Given the description of an element on the screen output the (x, y) to click on. 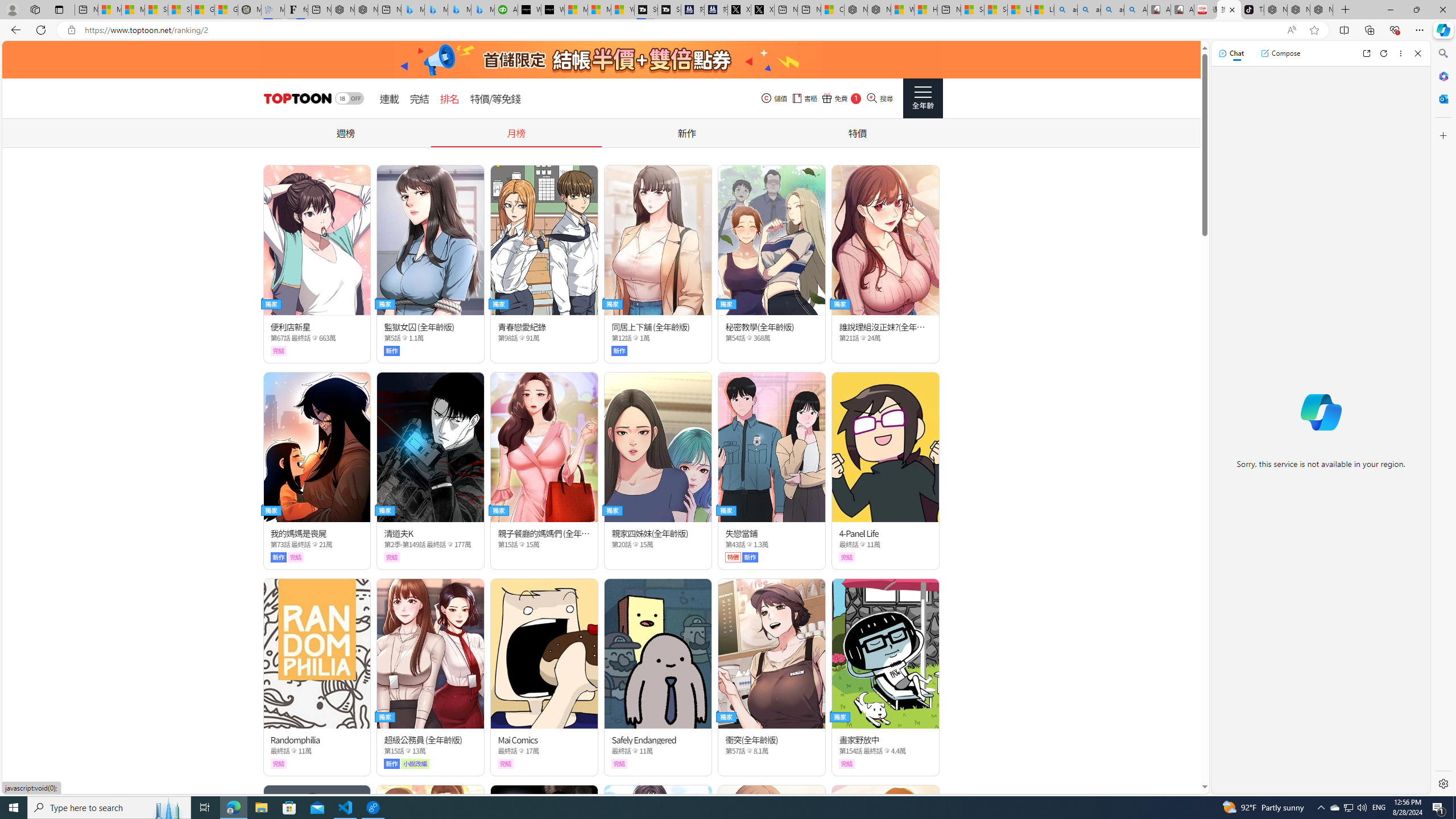
Settings (1442, 783)
Nordace - #1 Japanese Best-Seller - Siena Smart Backpack (365, 9)
Chat (1231, 52)
Compose (1280, 52)
